Given the description of an element on the screen output the (x, y) to click on. 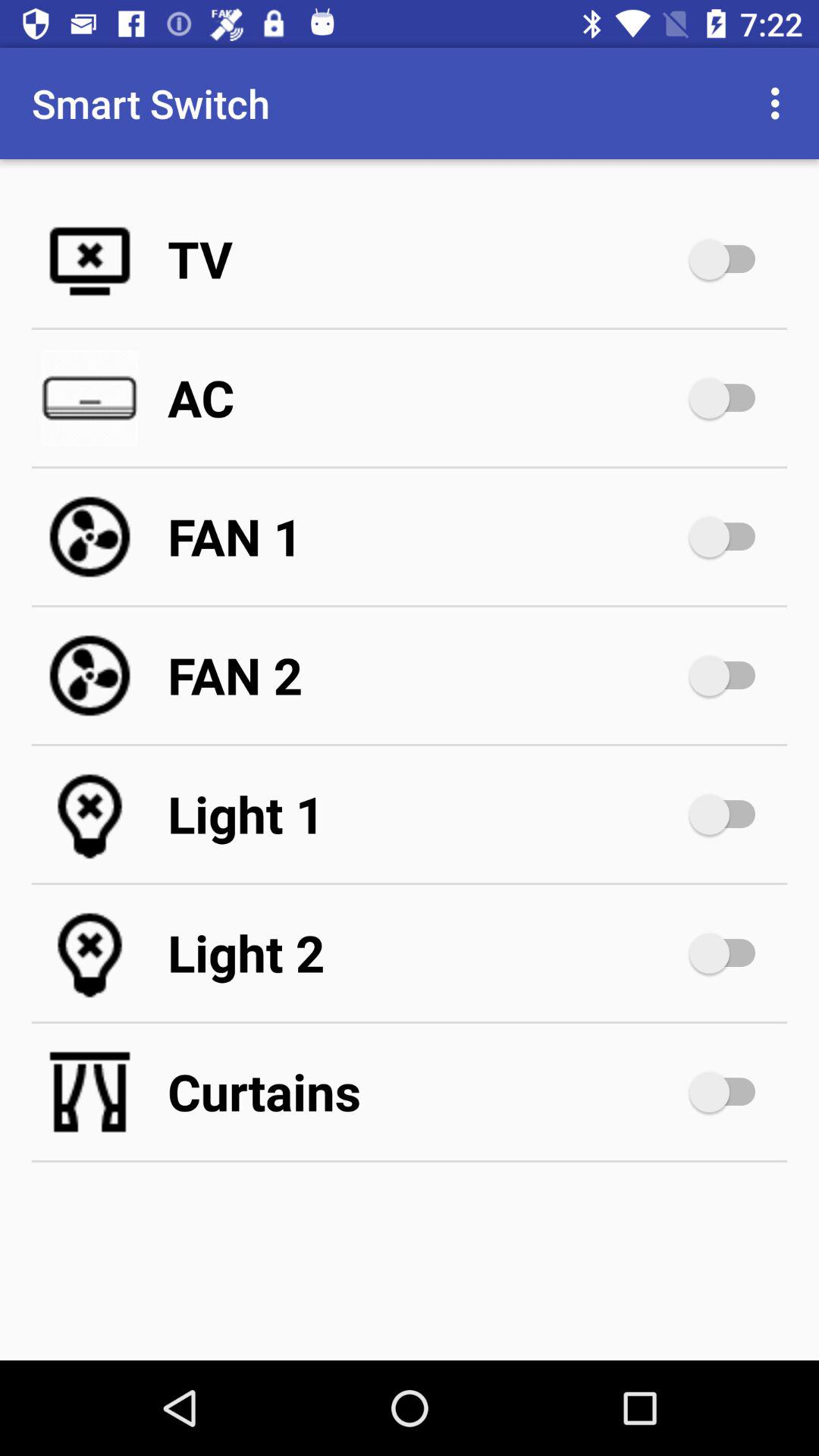
click light 2 (424, 953)
